Given the description of an element on the screen output the (x, y) to click on. 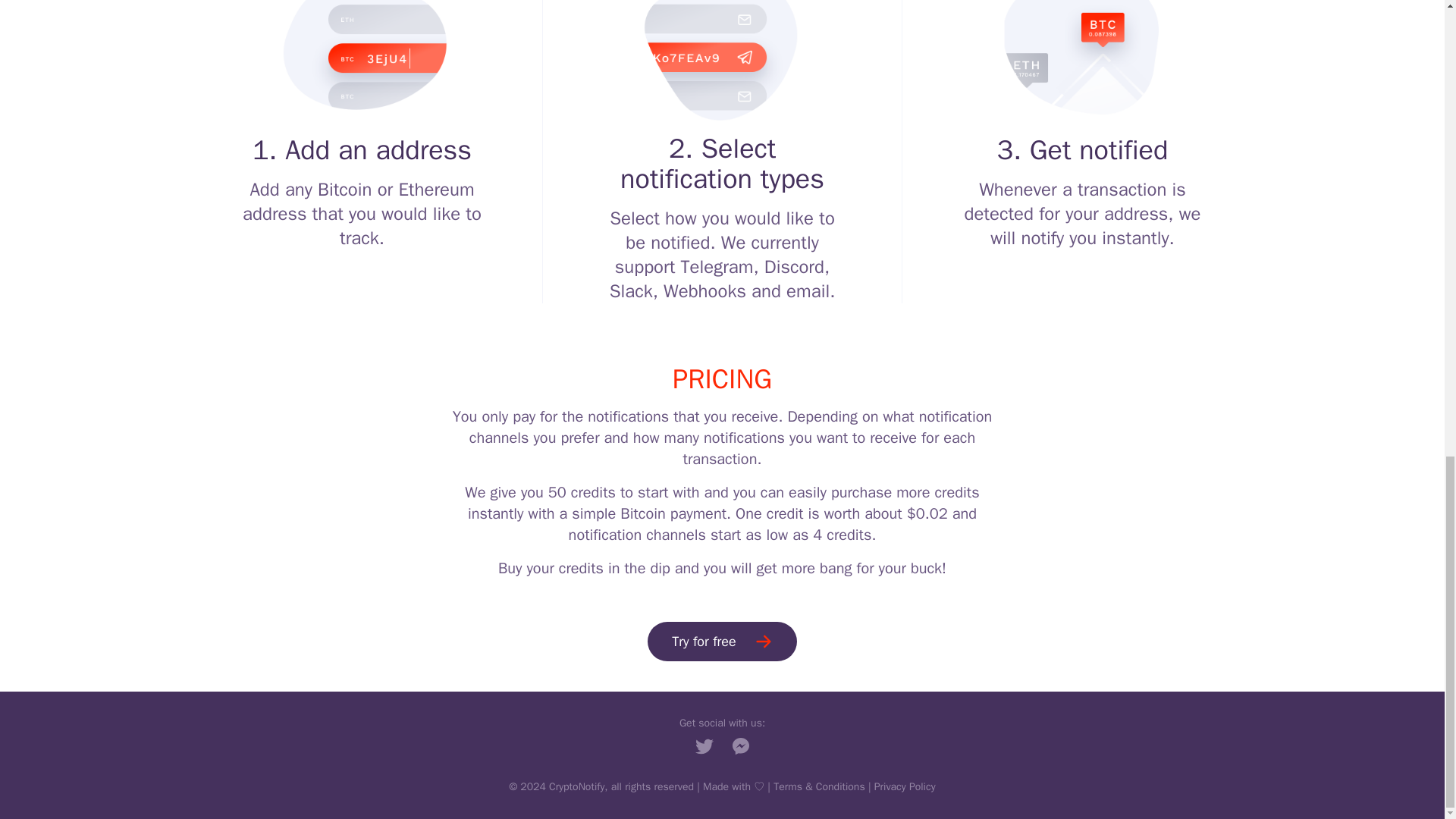
Telegram (717, 266)
Try for free (721, 640)
Slack (631, 291)
Discord (794, 266)
Privacy Policy (905, 786)
